Given the description of an element on the screen output the (x, y) to click on. 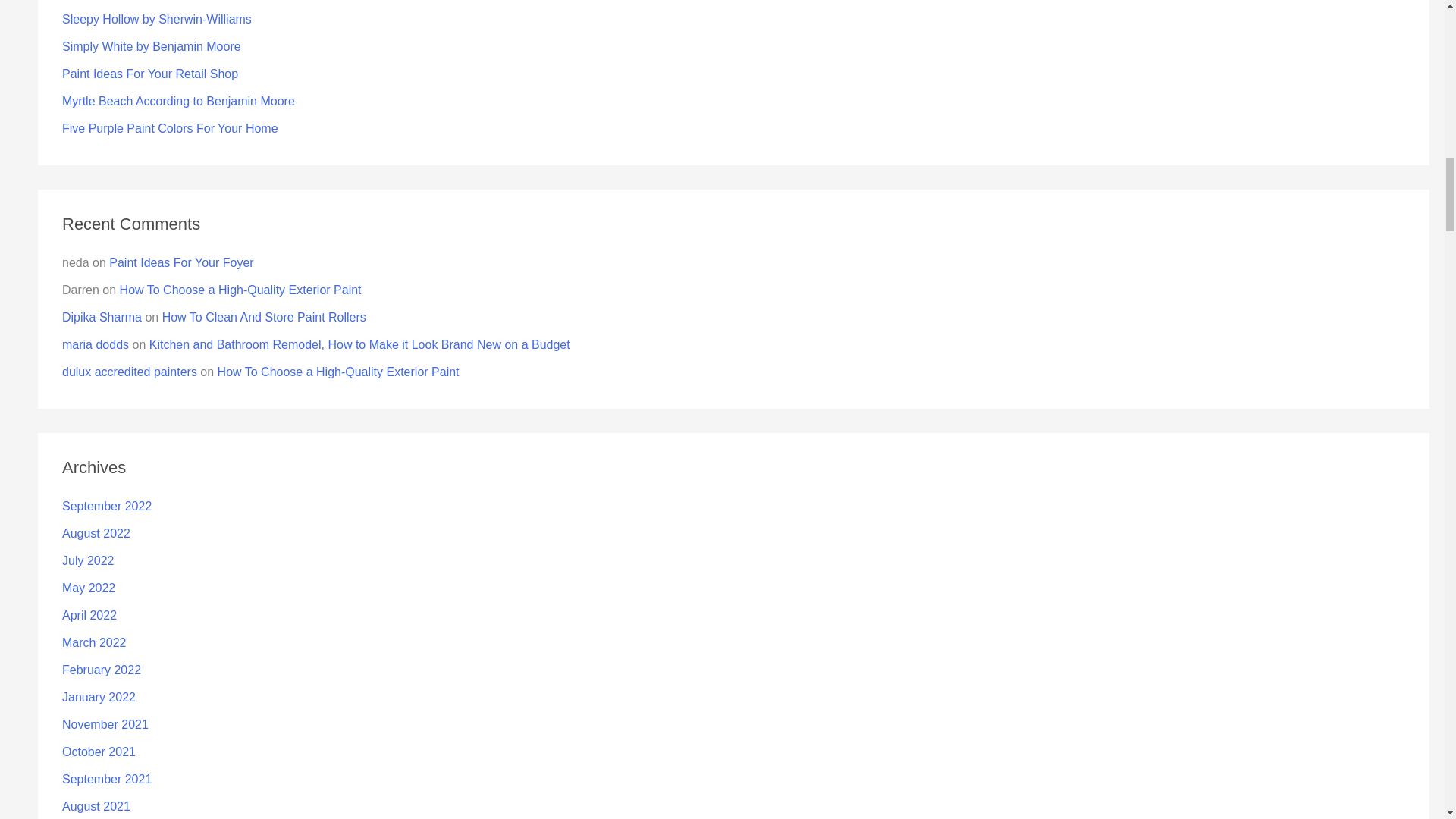
Paint Ideas For Your Foyer (181, 262)
Sleepy Hollow by Sherwin-Williams (156, 19)
Five Purple Paint Colors For Your Home (170, 128)
Myrtle Beach According to Benjamin Moore (178, 101)
Paint Ideas For Your Retail Shop (150, 73)
Simply White by Benjamin Moore (151, 46)
